Given the description of an element on the screen output the (x, y) to click on. 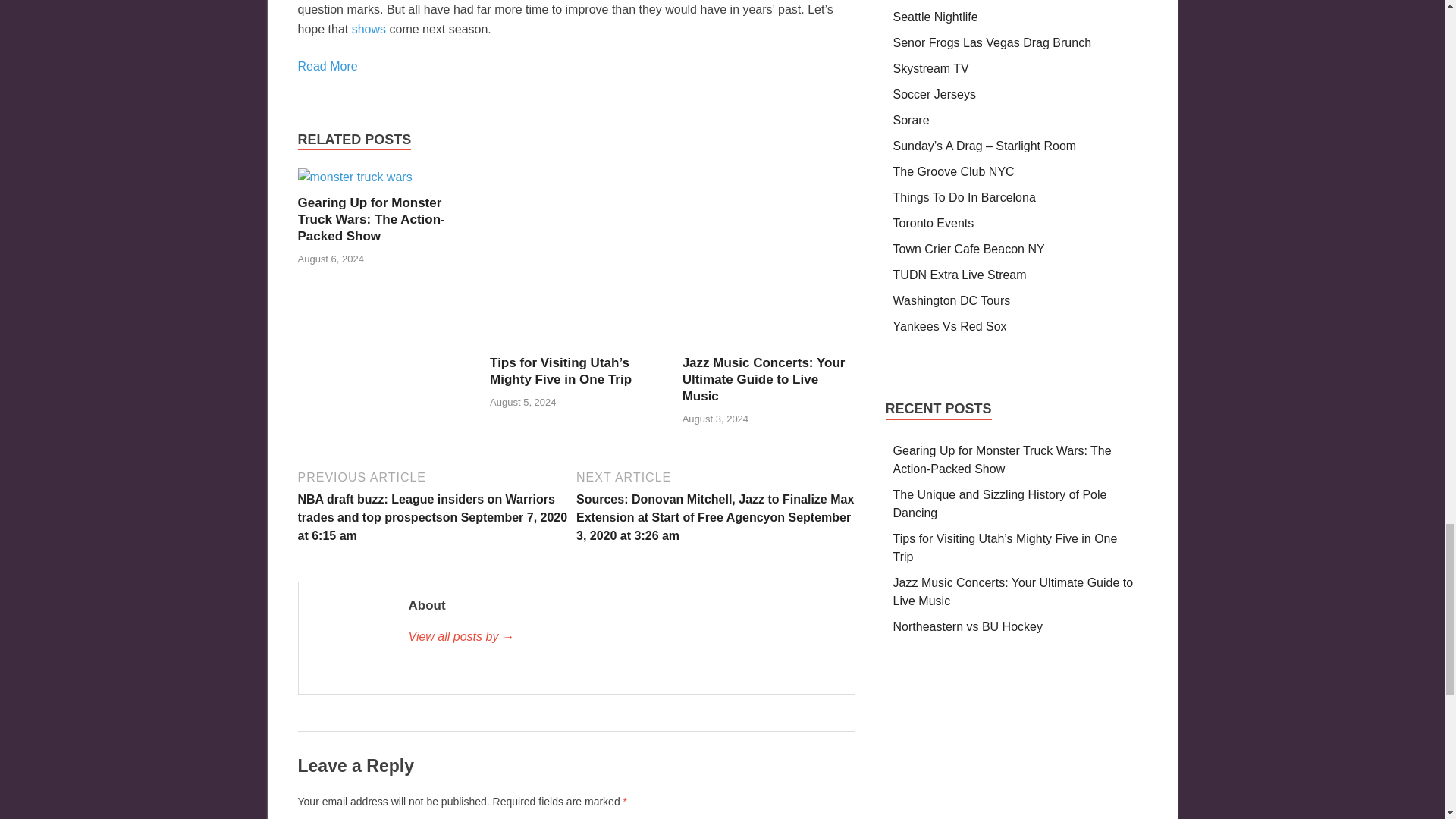
Gearing Up for Monster Truck Wars: The Action-Packed Show (370, 219)
Read More (326, 65)
Jazz Music Concerts: Your Ultimate Guide to Live Music (763, 379)
Gearing Up for Monster Truck Wars: The Action-Packed Show (354, 176)
Gearing Up for Monster Truck Wars: The Action-Packed Show (370, 219)
Jazz Music Concerts: Your Ultimate Guide to Live Music (769, 345)
shows (368, 29)
